Given the description of an element on the screen output the (x, y) to click on. 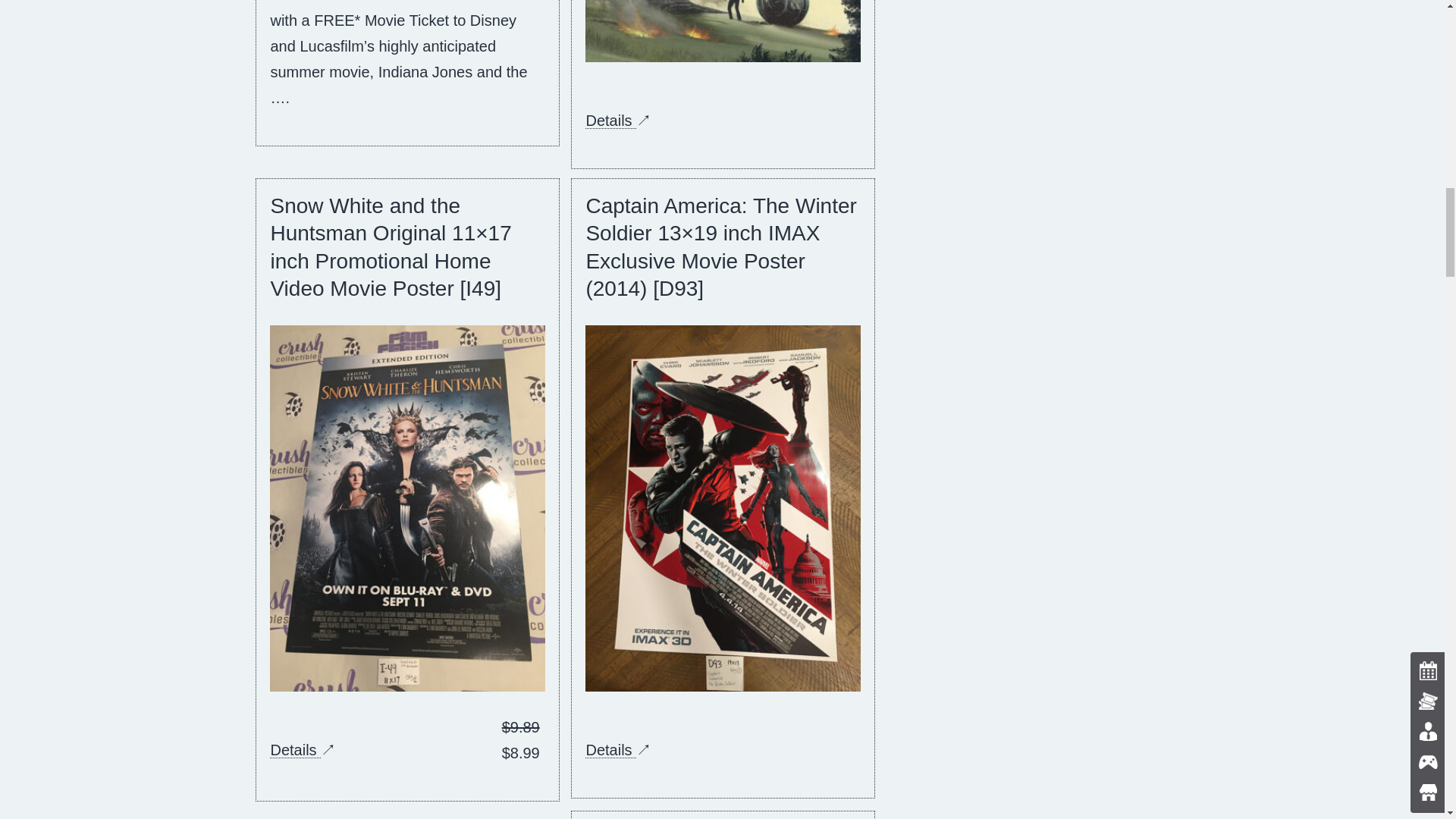
Details (294, 750)
Details (610, 750)
Details (610, 120)
